Given the description of an element on the screen output the (x, y) to click on. 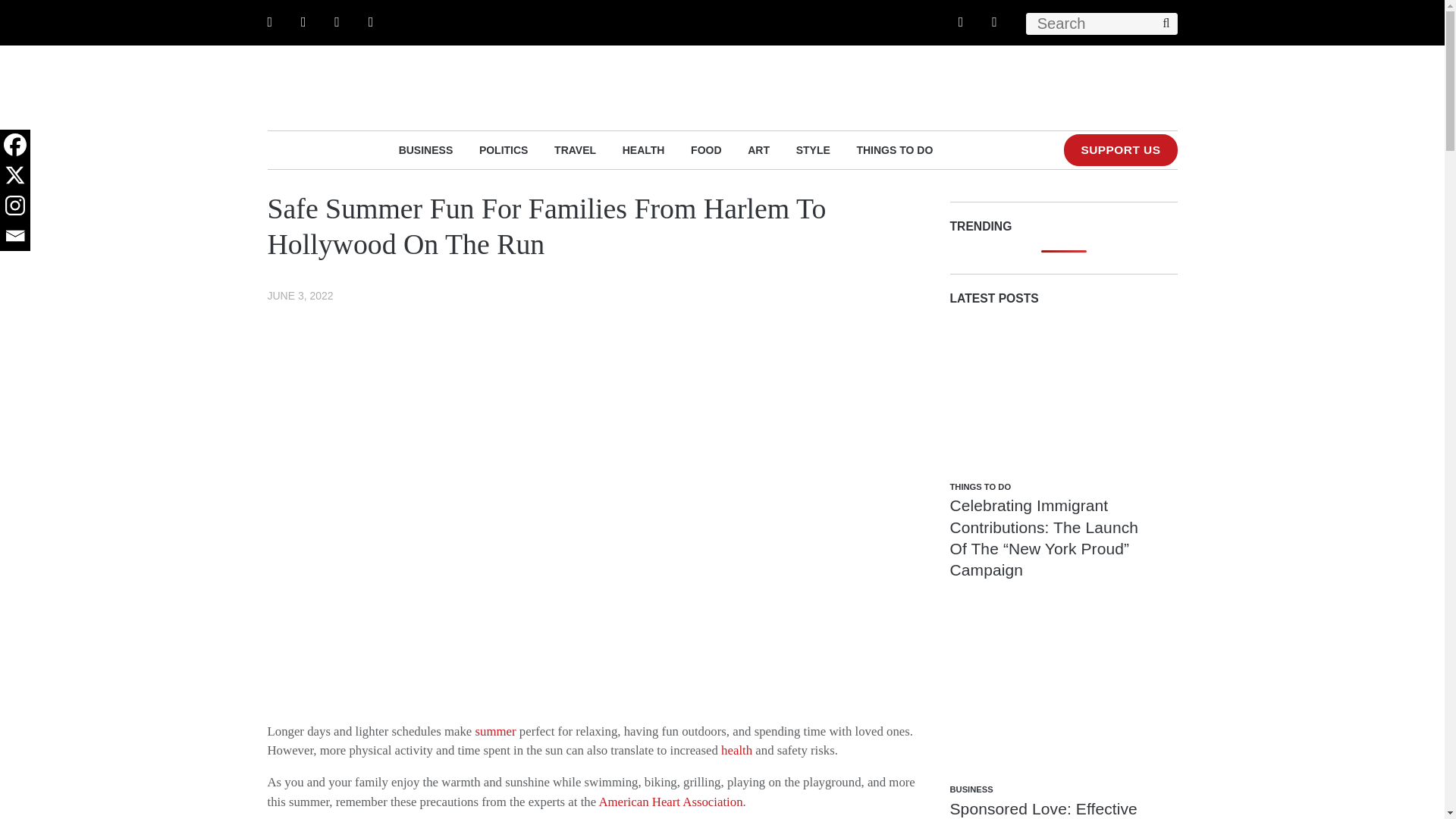
THINGS TO DO (894, 149)
BUSINESS (425, 149)
X (15, 174)
TRAVEL (574, 149)
STYLE (812, 149)
summer (496, 730)
American Heart Association (670, 801)
Instagram (15, 205)
Facebook (15, 144)
HEALTH (644, 149)
